Given the description of an element on the screen output the (x, y) to click on. 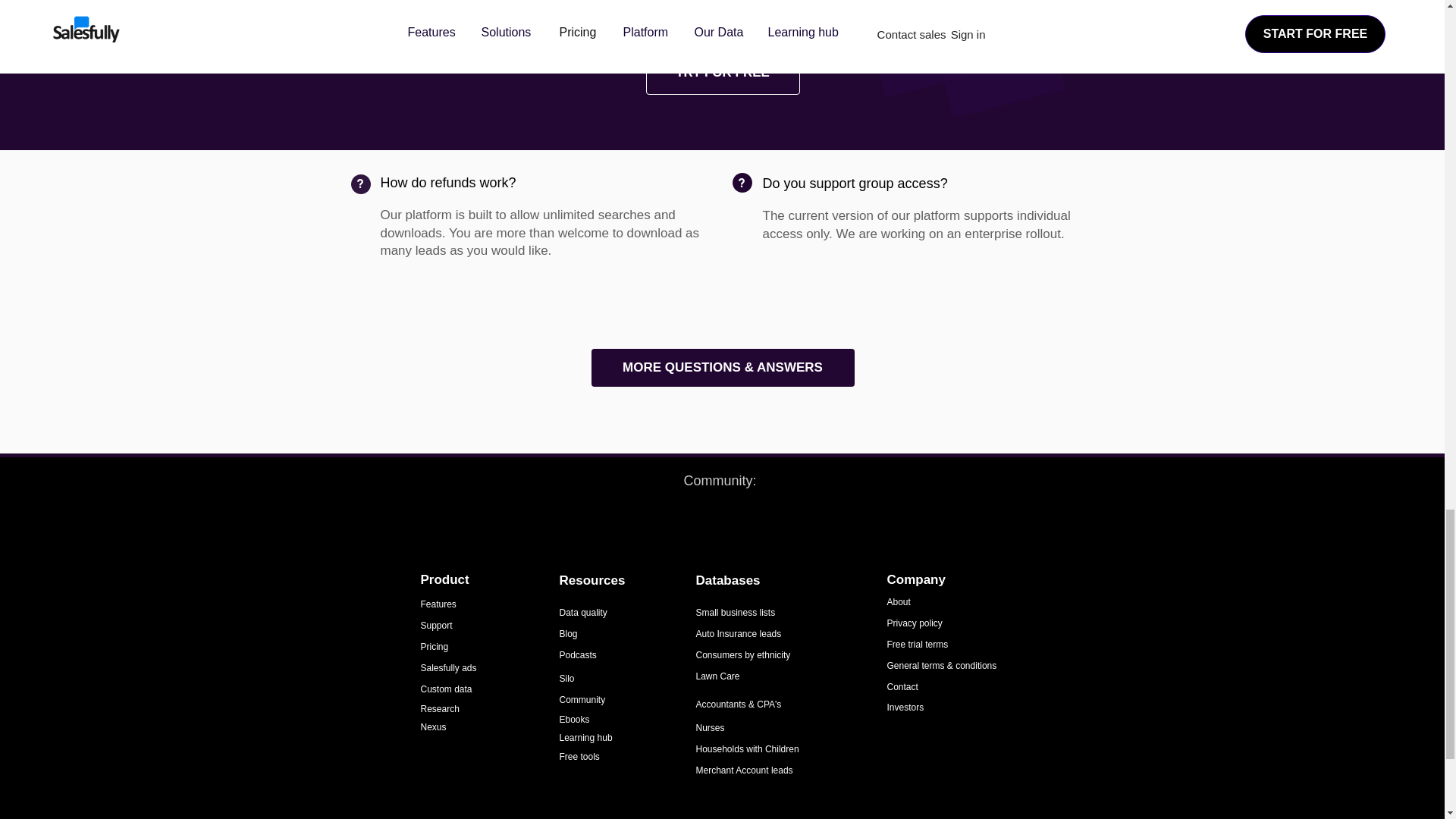
Small business lists (735, 612)
Nexus (432, 726)
Custom data (445, 688)
Auto Insurance leads (738, 633)
Support (435, 624)
Consumers by ethnicity (742, 655)
Lawn Care (717, 675)
Data quality (583, 612)
Research  (440, 708)
Features (437, 603)
